Given the description of an element on the screen output the (x, y) to click on. 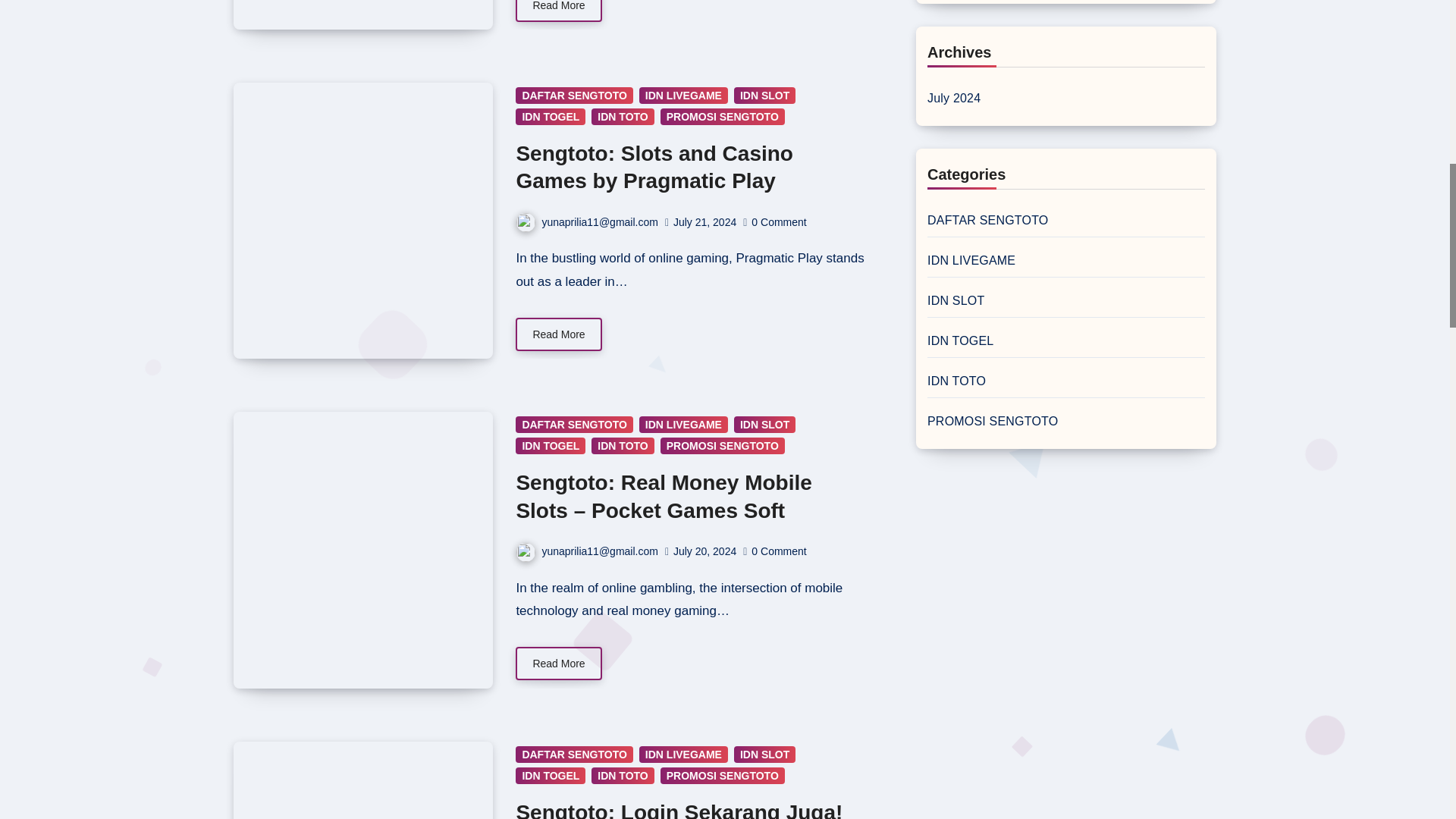
Read More (558, 11)
IDN TOGEL (550, 116)
IDN LIVEGAME (683, 95)
IDN TOTO (622, 116)
PROMOSI SENGTOTO (722, 116)
Sengtoto: Slots and Casino Games by Pragmatic Play (654, 166)
IDN SLOT (763, 95)
DAFTAR SENGTOTO (573, 95)
